Given the description of an element on the screen output the (x, y) to click on. 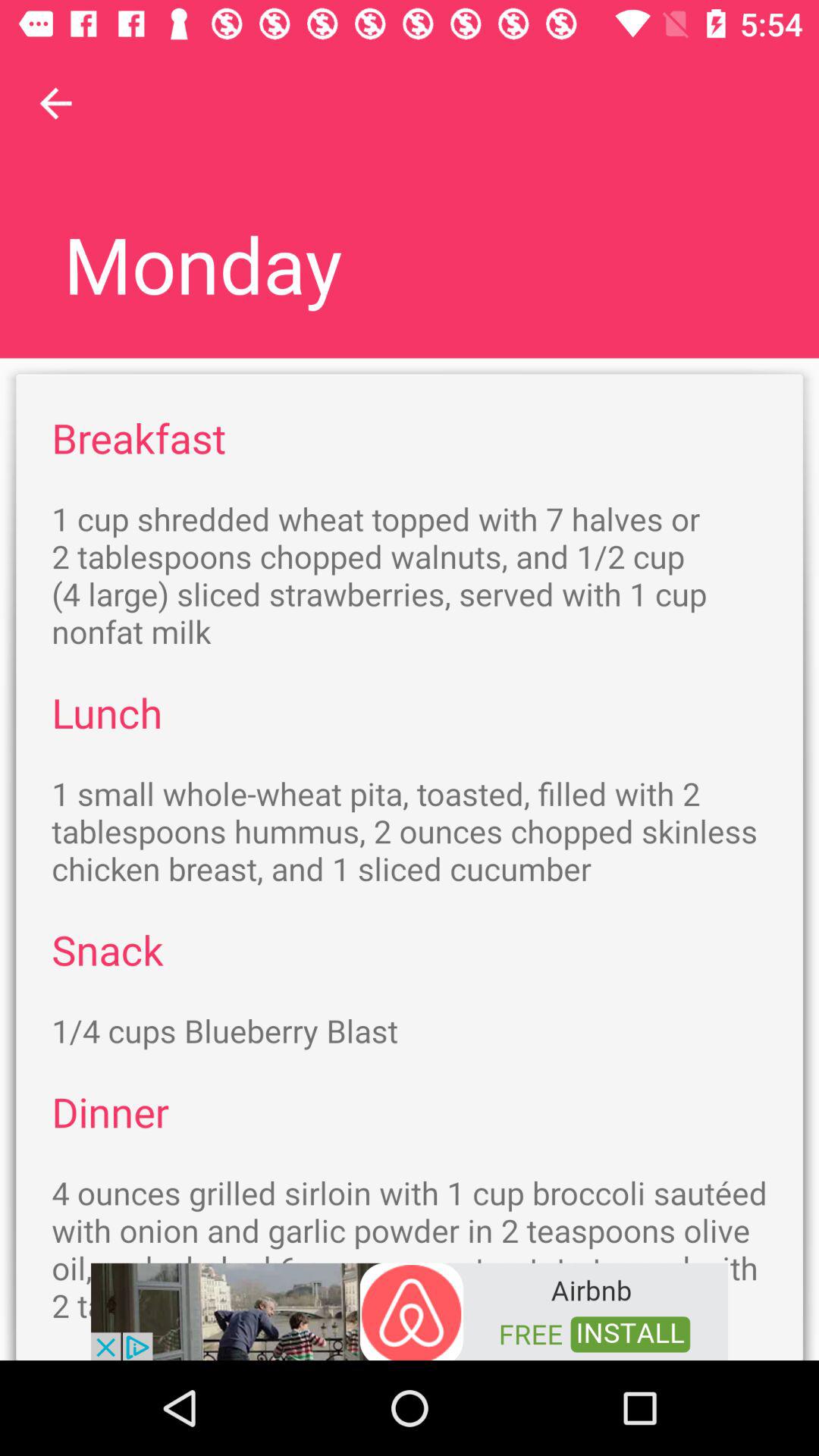
intall app (409, 1310)
